Given the description of an element on the screen output the (x, y) to click on. 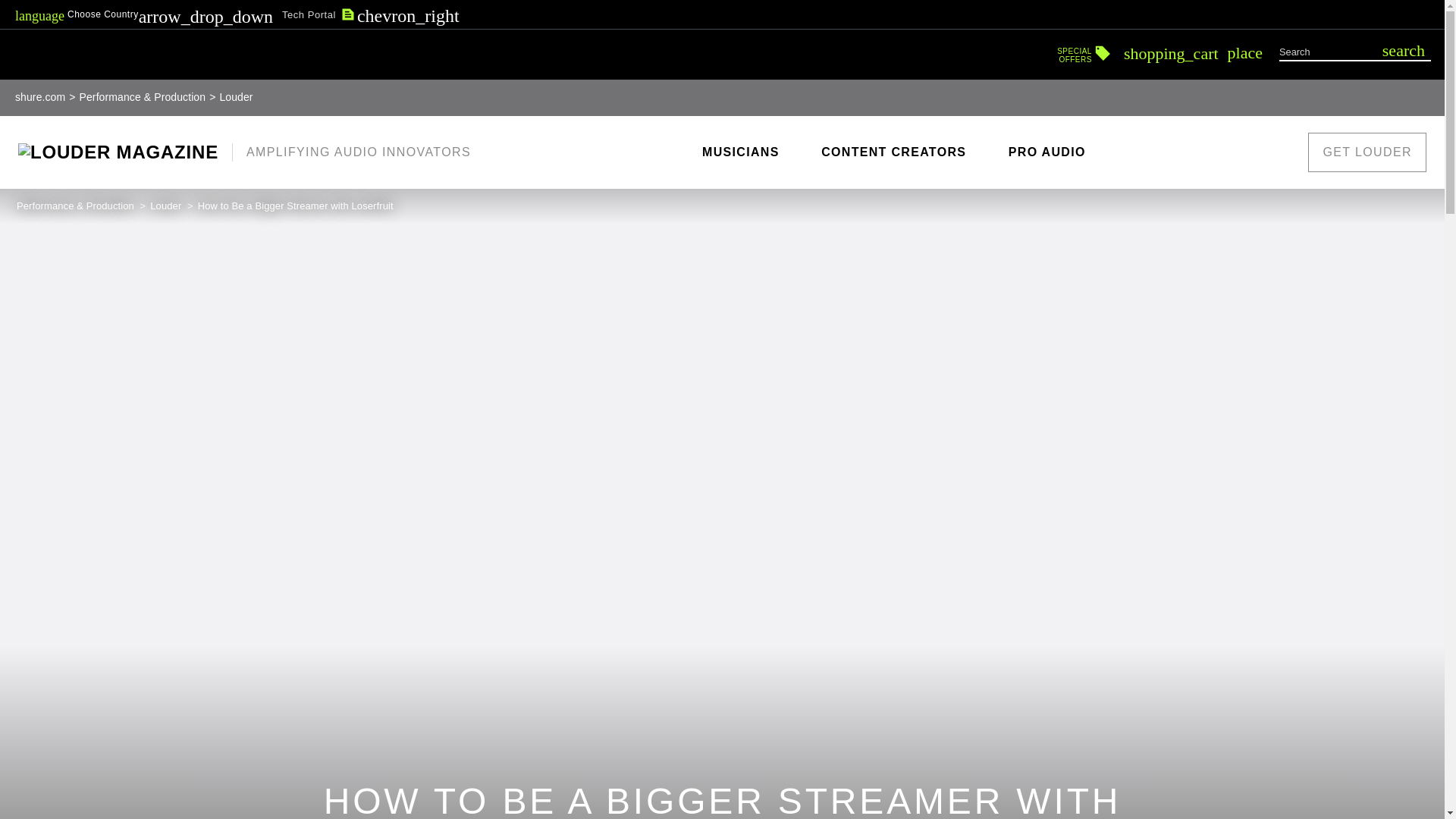
Louder (166, 205)
MUSICIANS (740, 152)
CONTENT CREATORS (892, 152)
GET LOUDER (1366, 151)
place (1244, 51)
Louder (1083, 49)
PRO AUDIO (235, 96)
search (1046, 152)
shure.com (1403, 50)
